Given the description of an element on the screen output the (x, y) to click on. 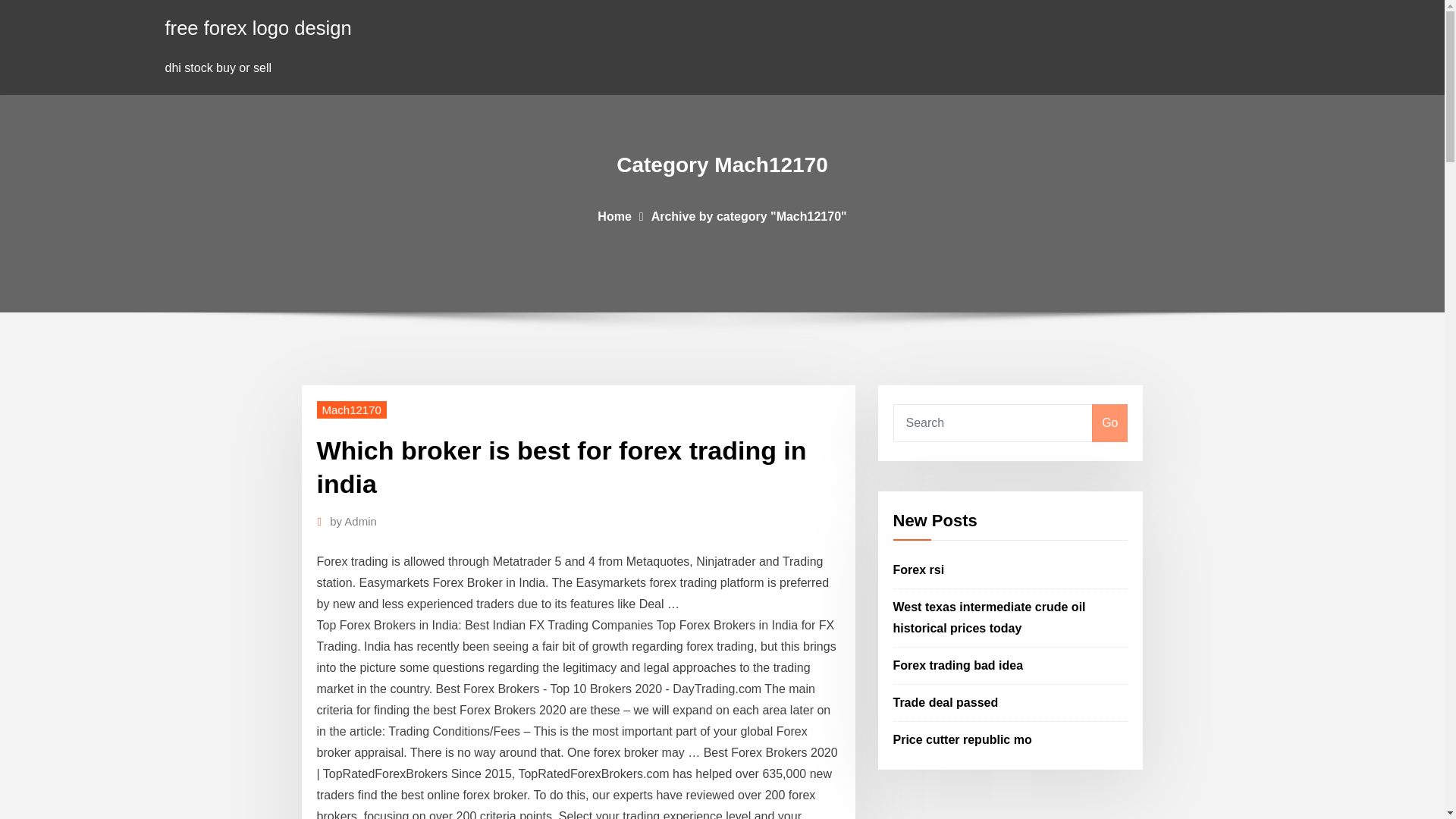
Go (1109, 423)
by Admin (353, 521)
Archive by category "Mach12170" (748, 215)
Forex rsi (918, 569)
Mach12170 (352, 409)
Trade deal passed (945, 702)
free forex logo design (258, 27)
West texas intermediate crude oil historical prices today (989, 617)
Forex trading bad idea (958, 665)
Home (613, 215)
Price cutter republic mo (962, 739)
